Given the description of an element on the screen output the (x, y) to click on. 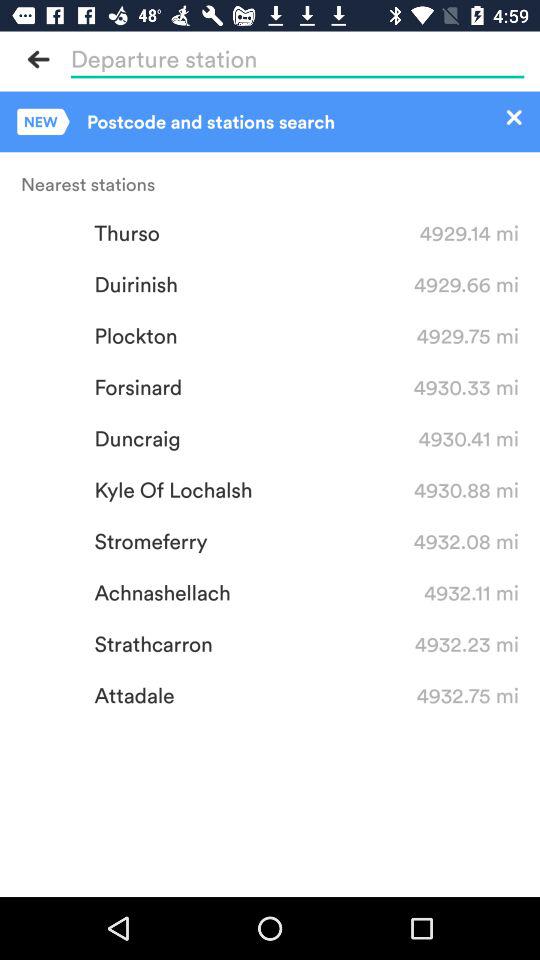
search bar (297, 59)
